Given the description of an element on the screen output the (x, y) to click on. 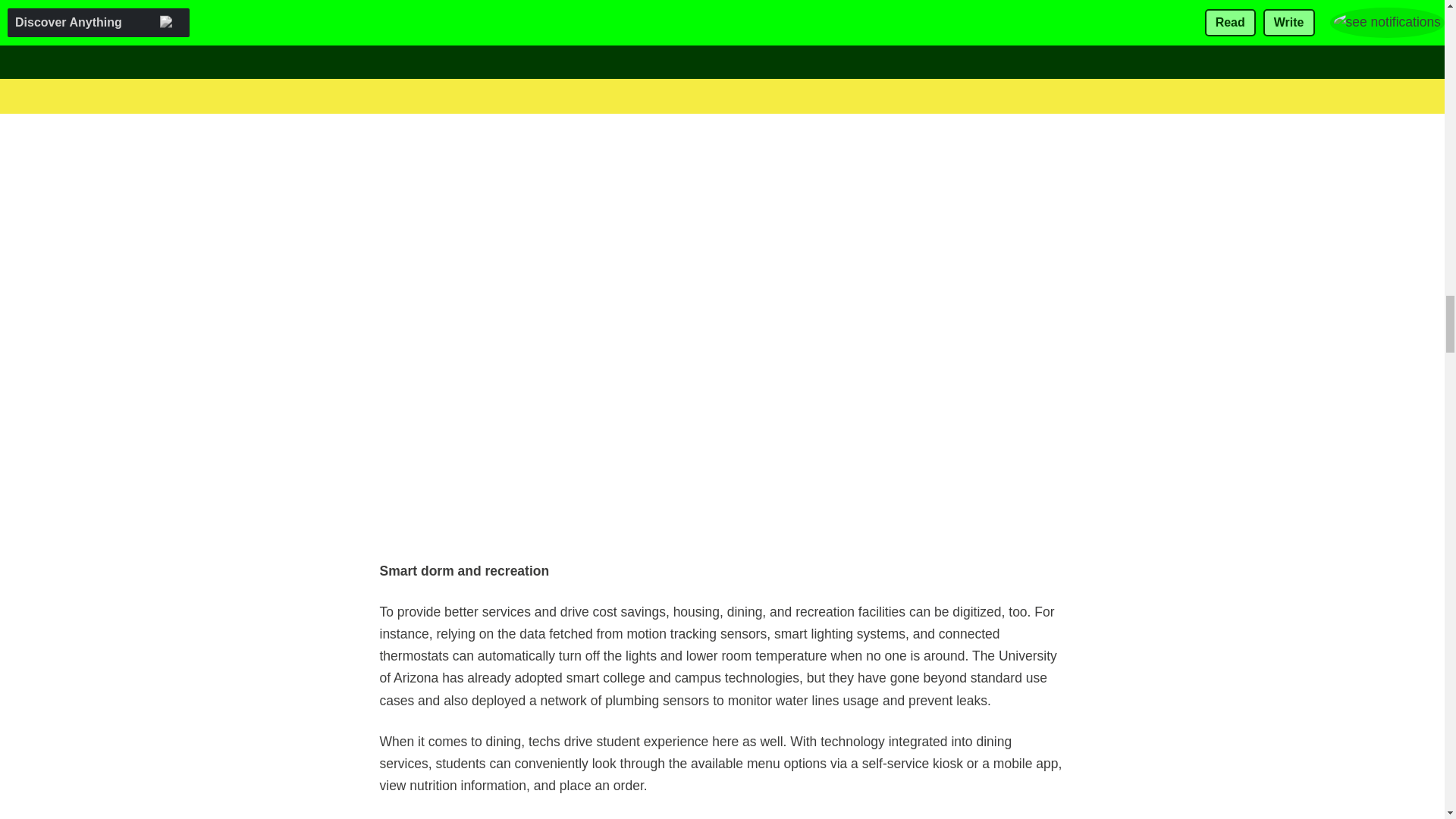
ZeroEyes (732, 43)
